Given the description of an element on the screen output the (x, y) to click on. 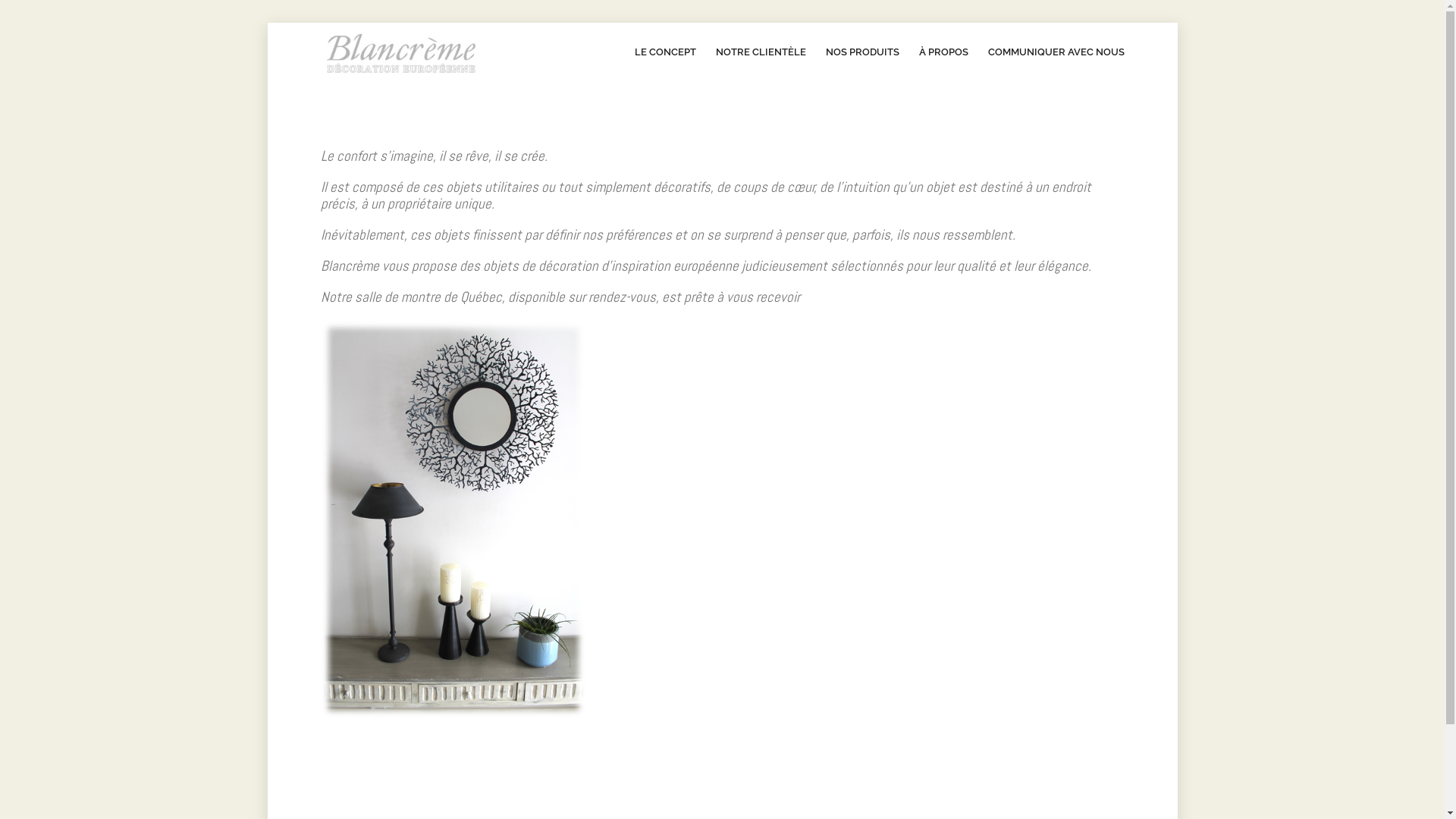
LE CONCEPT Element type: text (664, 52)
NOS PRODUITS Element type: text (861, 52)
COMMUNIQUER AVEC NOUS Element type: text (1055, 52)
